Given the description of an element on the screen output the (x, y) to click on. 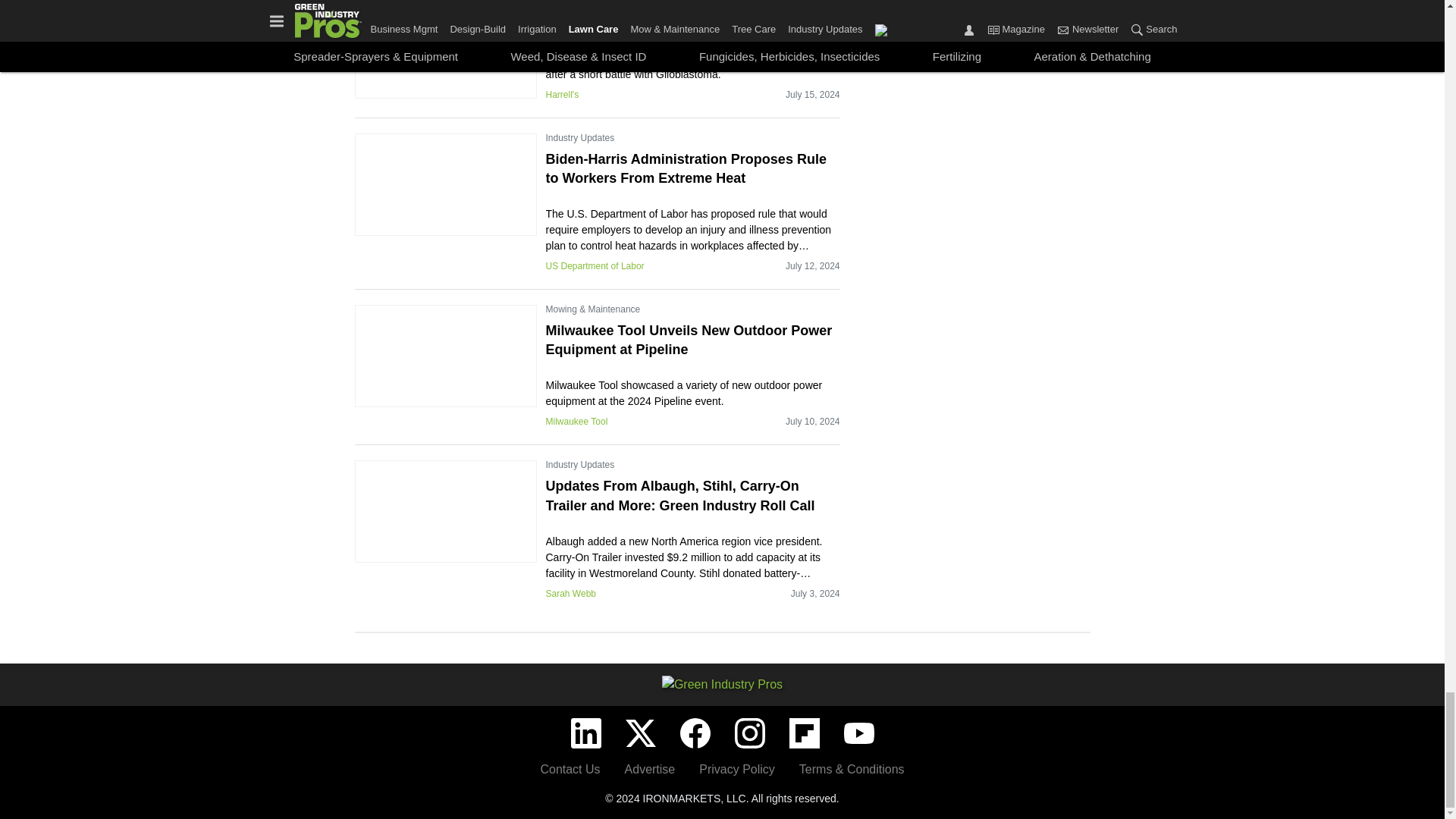
Flipboard icon (803, 733)
YouTube icon (858, 733)
Facebook icon (694, 733)
Twitter X icon (639, 733)
LinkedIn icon (584, 733)
Instagram icon (748, 733)
